Given the description of an element on the screen output the (x, y) to click on. 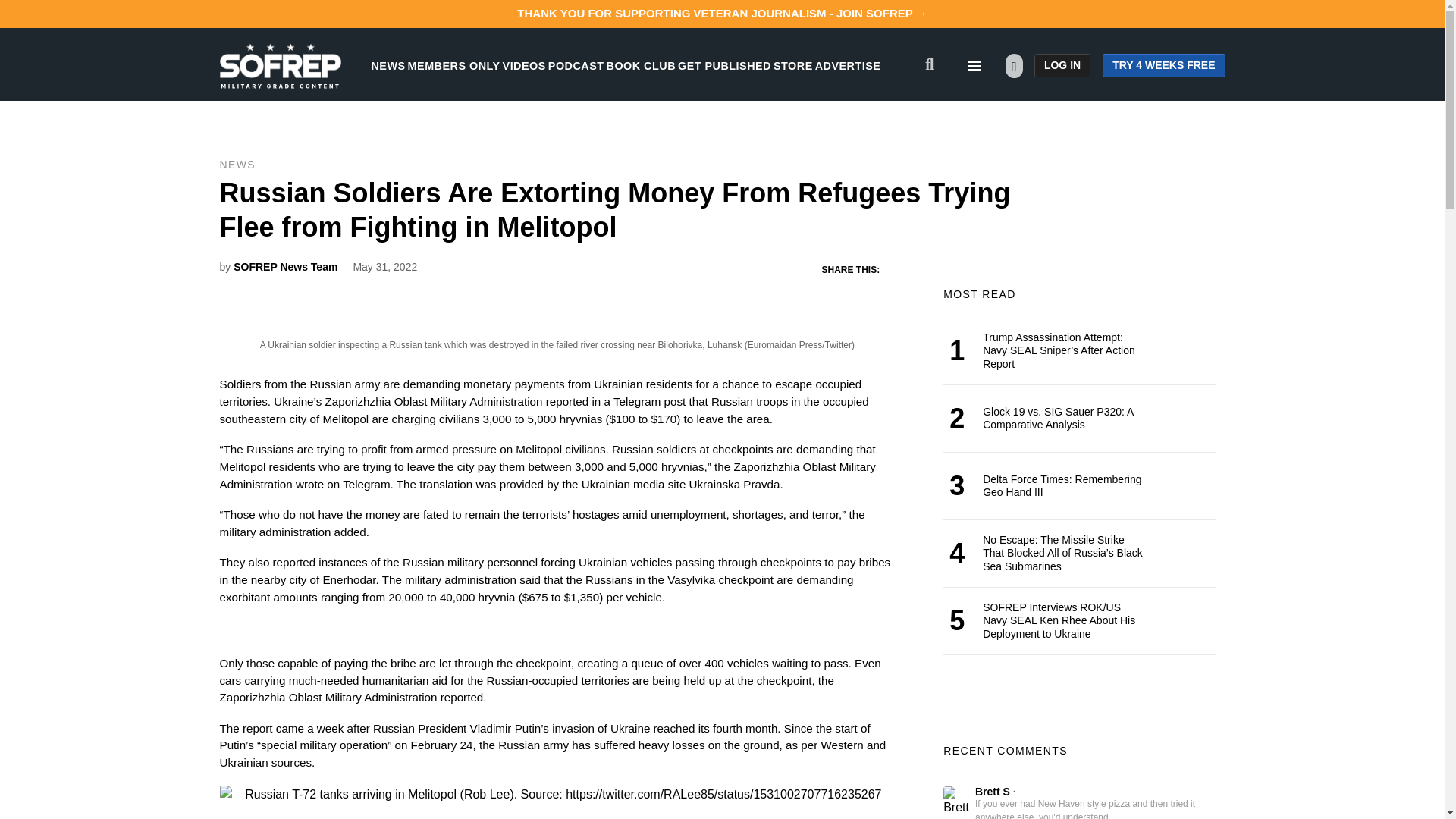
NEWS (388, 65)
TRY 4 WEEKS FREE (1163, 65)
MEMBERS ONLY (453, 65)
BOOK CLUB (641, 65)
ADVERTISE (847, 65)
PODCAST (576, 65)
STORE (792, 65)
VIDEOS (524, 65)
GET PUBLISHED (724, 65)
LOG IN (1061, 65)
